Given the description of an element on the screen output the (x, y) to click on. 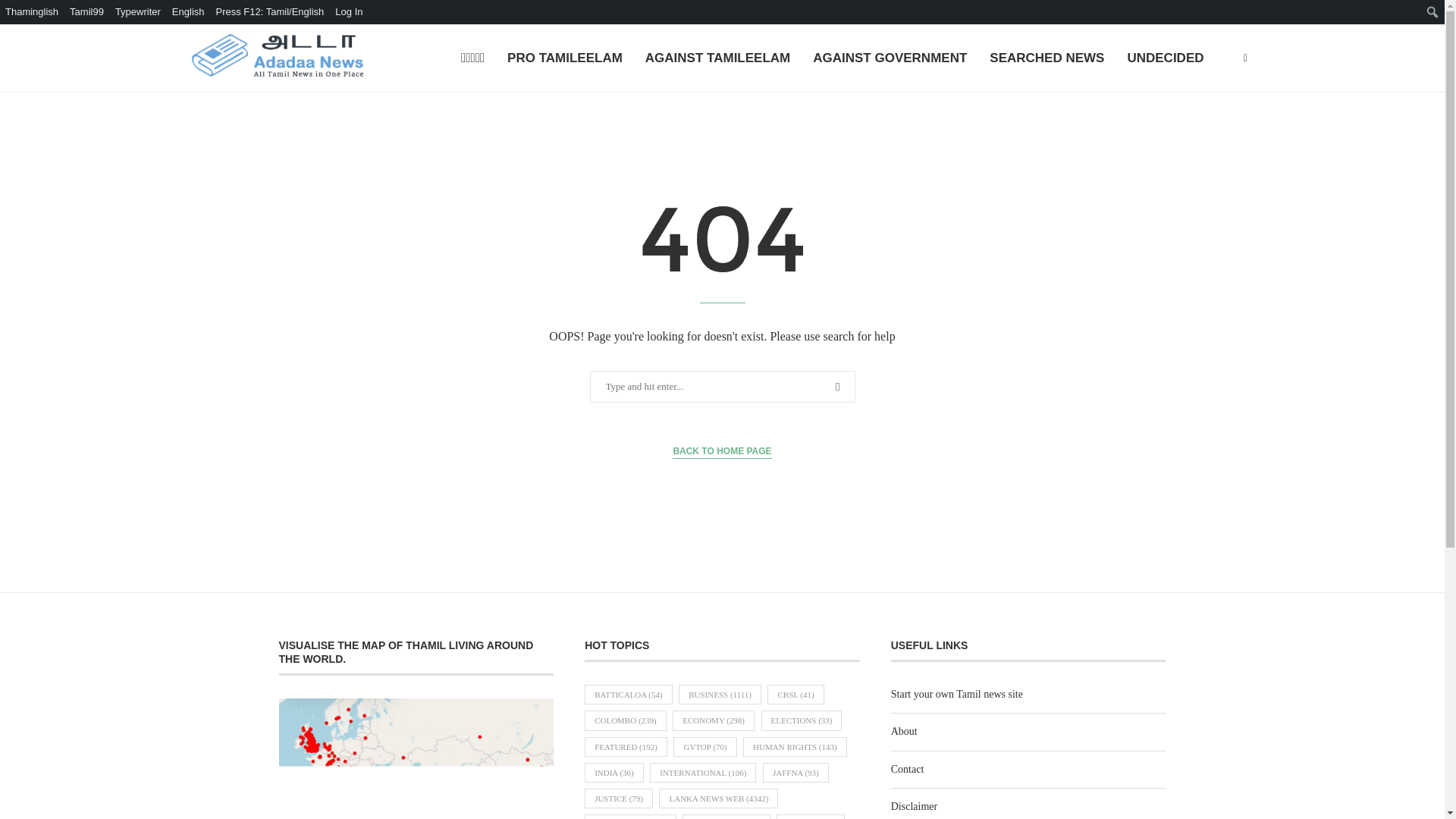
BACK TO HOME PAGE (721, 451)
AGAINST GOVERNMENT (889, 58)
Typewriter (138, 12)
AGAINST TAMILEELAM (717, 58)
Tamil99 (87, 12)
Click to select English keyboard (189, 12)
Map of Thamils living around the world. (416, 758)
Search (15, 12)
Search (35, 15)
Log In (349, 12)
